Given the description of an element on the screen output the (x, y) to click on. 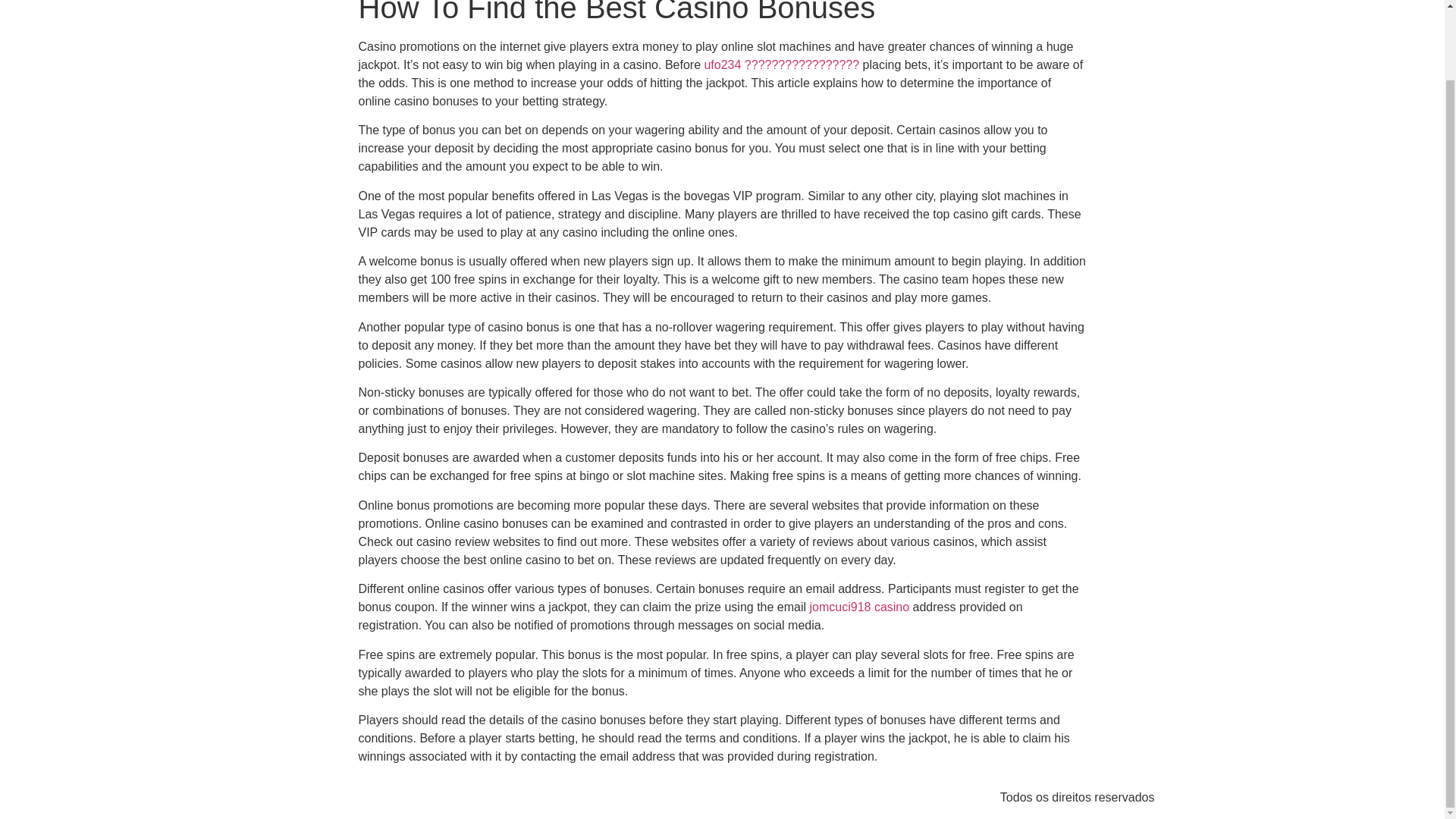
ufo234 ????????????????? (781, 64)
jomcuci918 casino (859, 606)
